Given the description of an element on the screen output the (x, y) to click on. 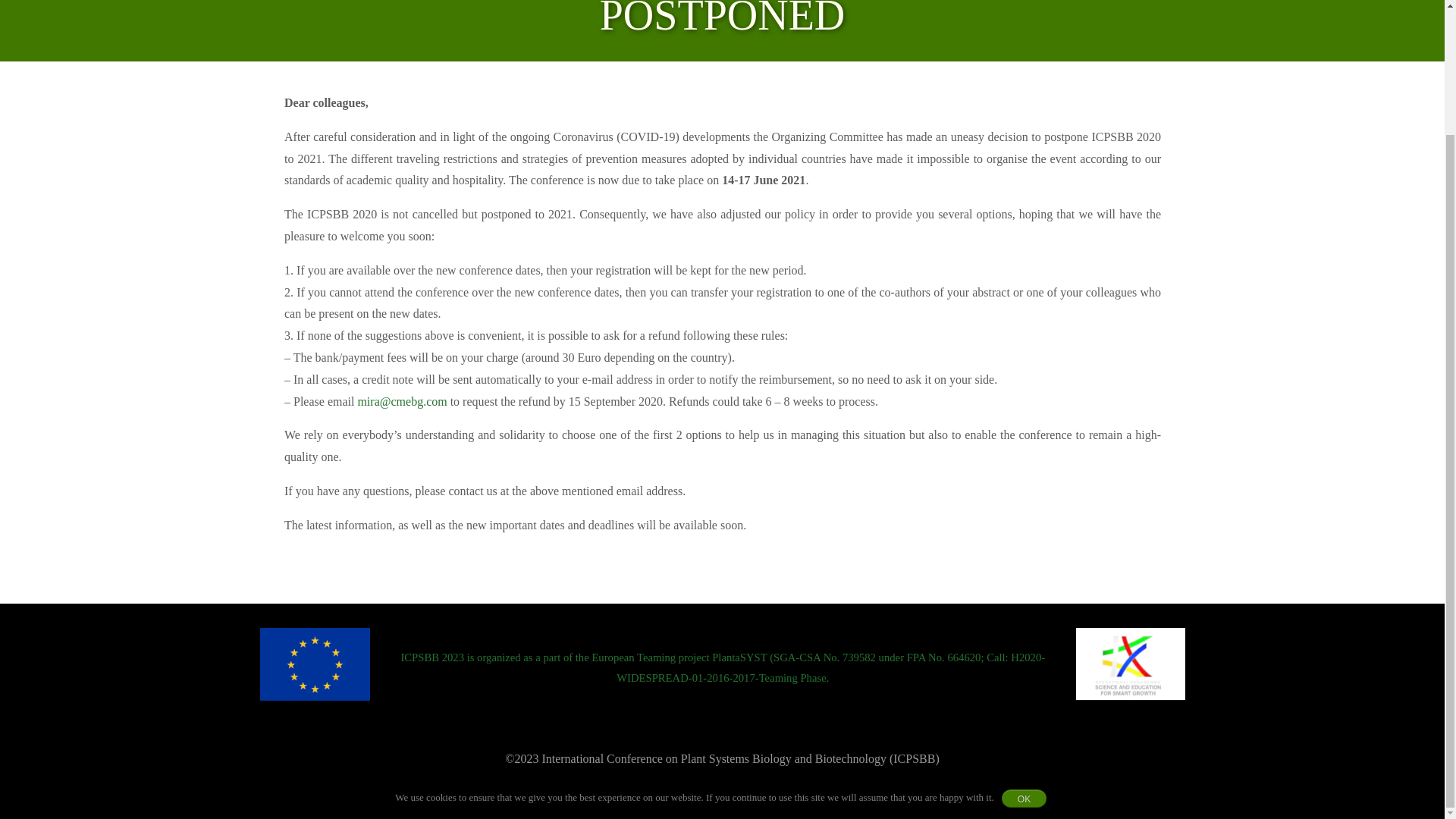
OK (1023, 648)
